Given the description of an element on the screen output the (x, y) to click on. 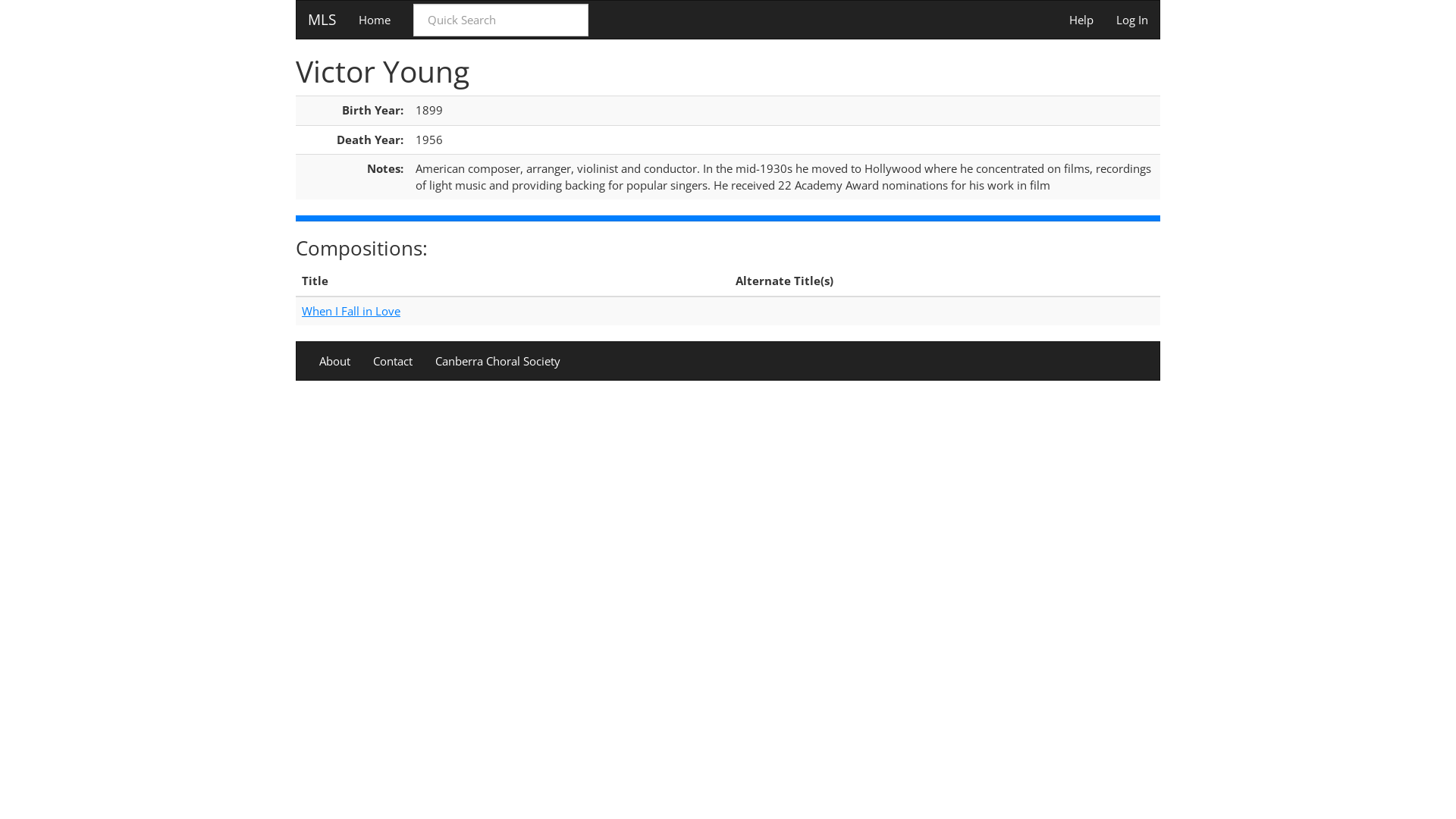
MLS Element type: text (321, 19)
Help Element type: text (1080, 19)
Canberra Choral Society Element type: text (497, 360)
Contact Element type: text (392, 360)
About Element type: text (334, 360)
Home Element type: text (374, 19)
When I Fall in Love Element type: text (350, 310)
Log In Element type: text (1131, 19)
